Given the description of an element on the screen output the (x, y) to click on. 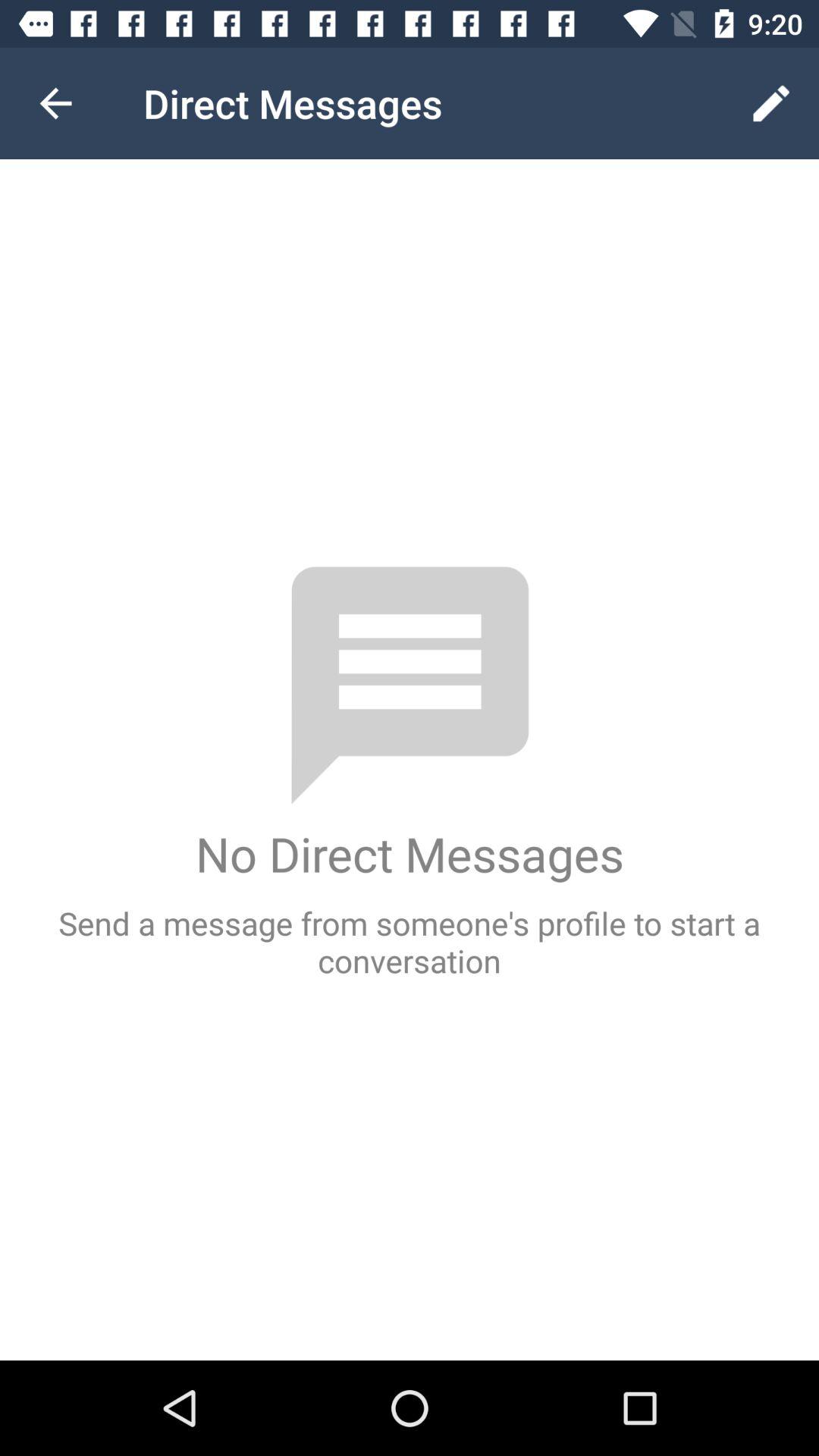
turn on the item next to the direct messages (55, 103)
